Given the description of an element on the screen output the (x, y) to click on. 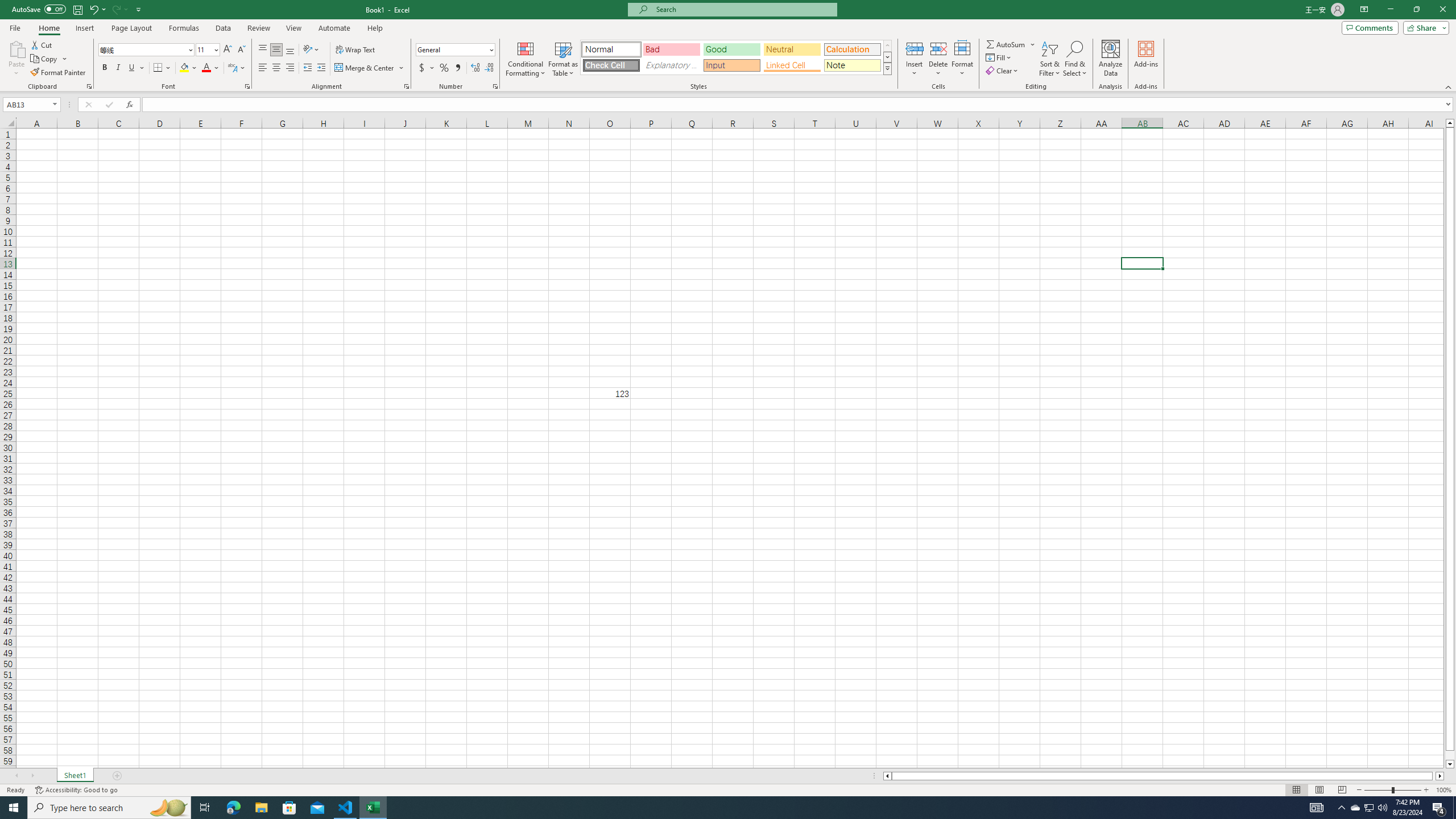
Normal (611, 49)
Page Break Preview (1342, 790)
Scroll Left (16, 775)
Font Color (210, 67)
Automate (334, 28)
Zoom (1392, 790)
Restore Down (1416, 9)
Align Right (290, 67)
Data (223, 28)
Delete (938, 58)
Formula Bar (799, 104)
Middle Align (276, 49)
